Given the description of an element on the screen output the (x, y) to click on. 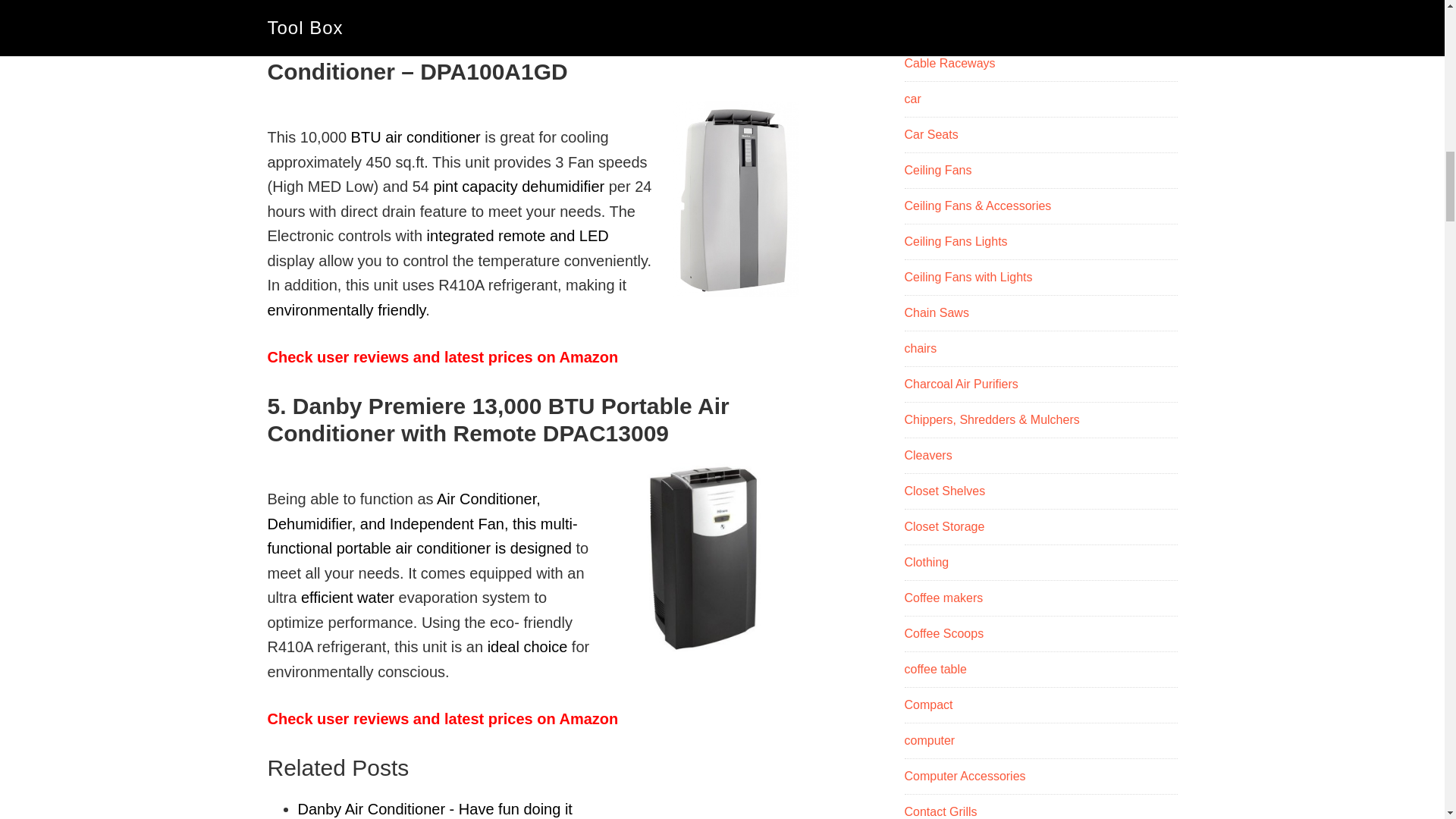
environmentally friendly (345, 310)
pint capacity dehumidifier (518, 186)
Check user reviews and latest prices on Amazon (441, 356)
integrated remote and LED (517, 235)
BTU air conditioner (415, 136)
Check user reviews and latest prices on Amazon (441, 2)
ideal choice (527, 646)
efficient water (347, 597)
Danby Premiere 13,000 BTU Portable Air Conditioner (702, 556)
